Given the description of an element on the screen output the (x, y) to click on. 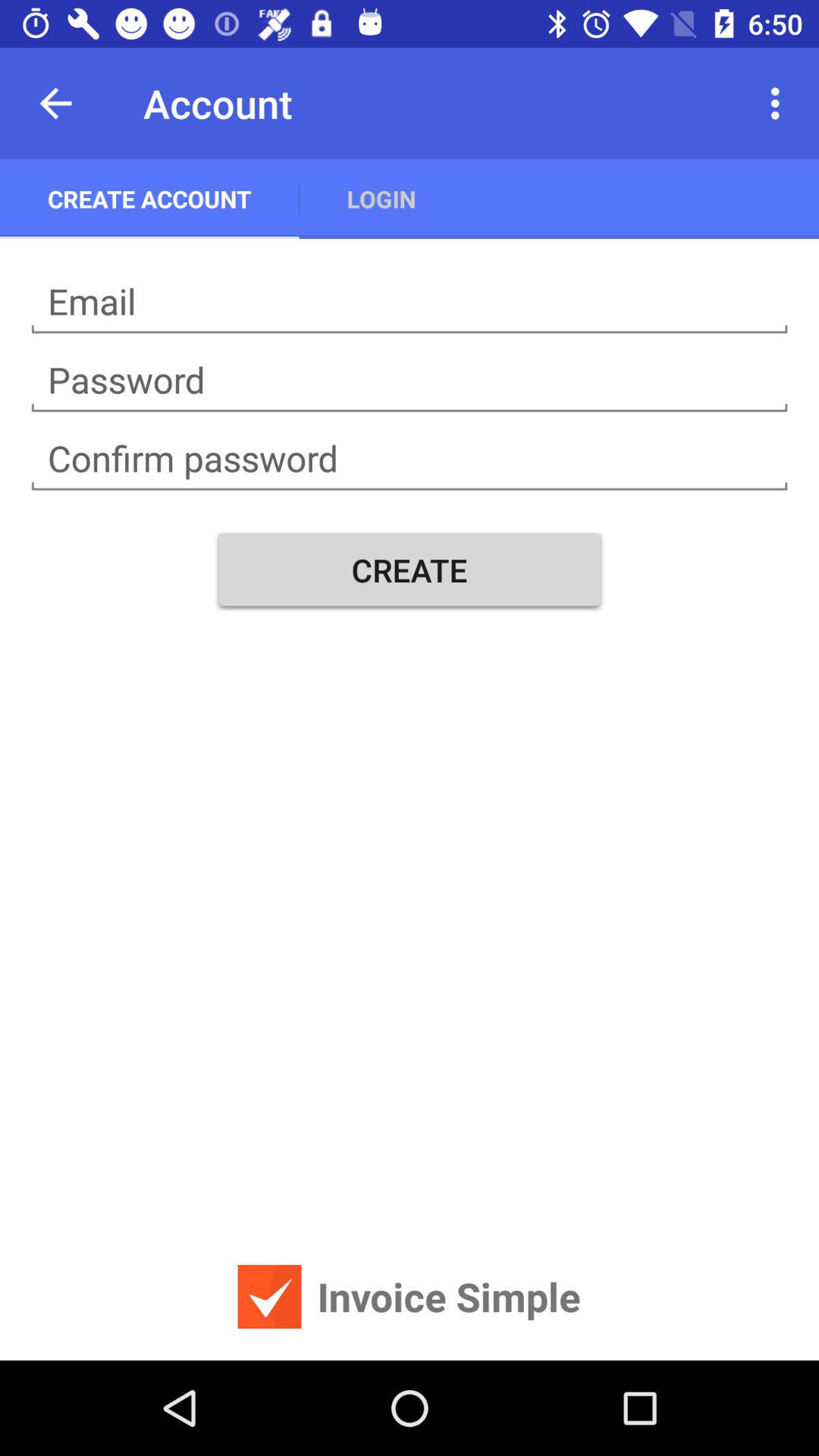
enter the email box (409, 301)
